Given the description of an element on the screen output the (x, y) to click on. 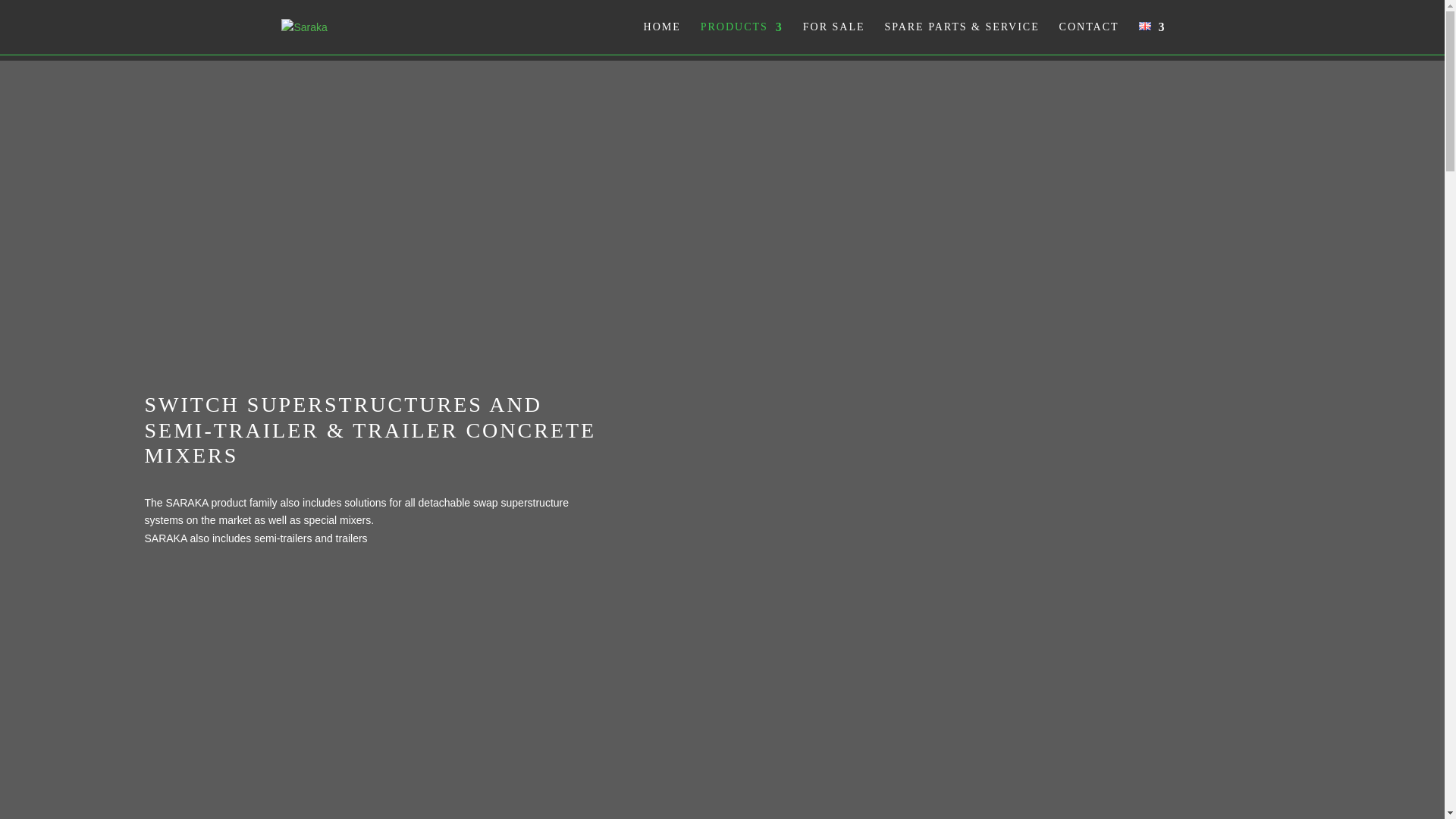
HOME (662, 38)
English (1144, 26)
PRODUCTS (741, 38)
FOR SALE (833, 38)
CONTACT (1089, 38)
